Given the description of an element on the screen output the (x, y) to click on. 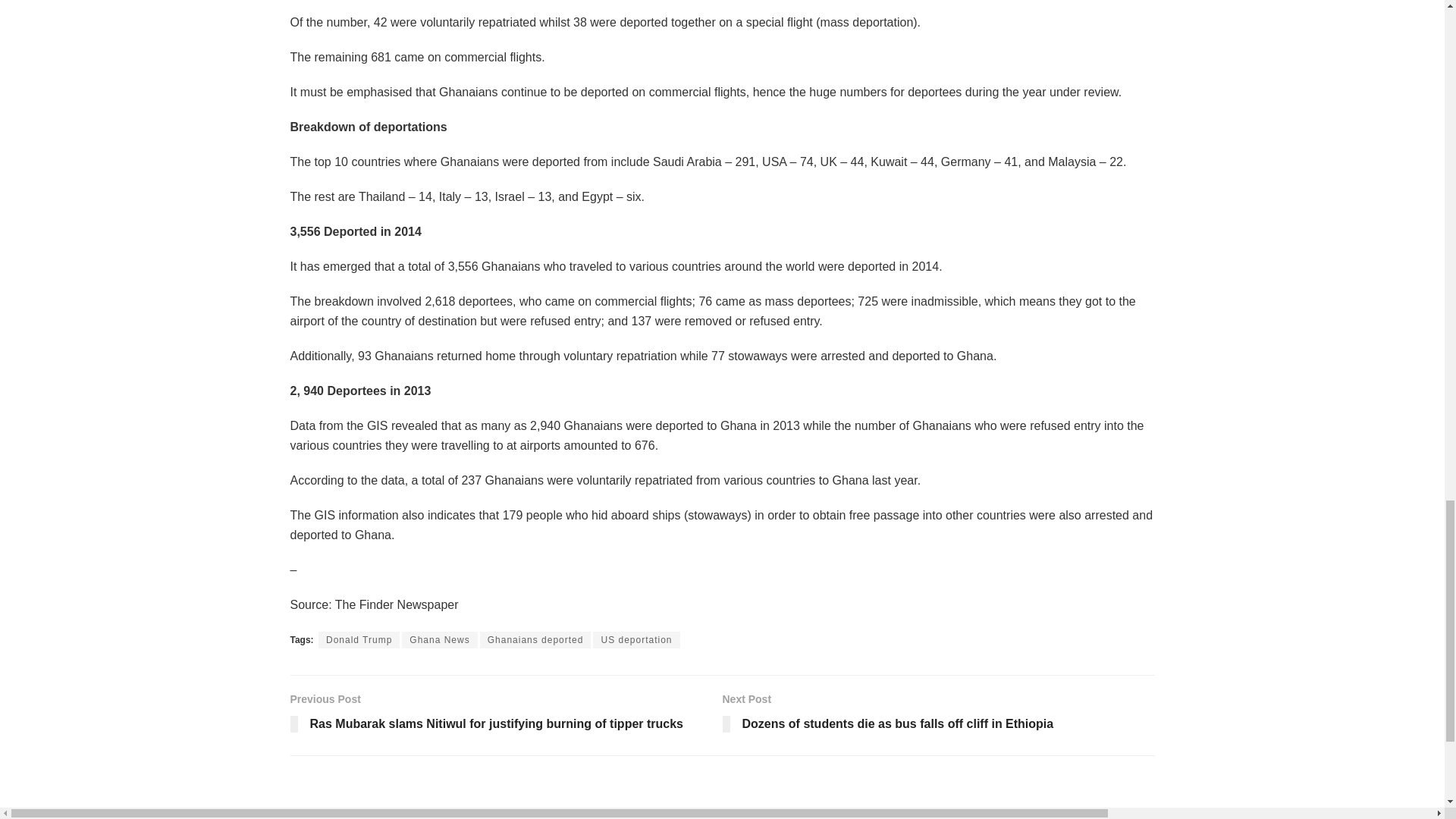
Ghana News (439, 639)
Ghanaians deported (535, 639)
Donald Trump (358, 639)
